Given the description of an element on the screen output the (x, y) to click on. 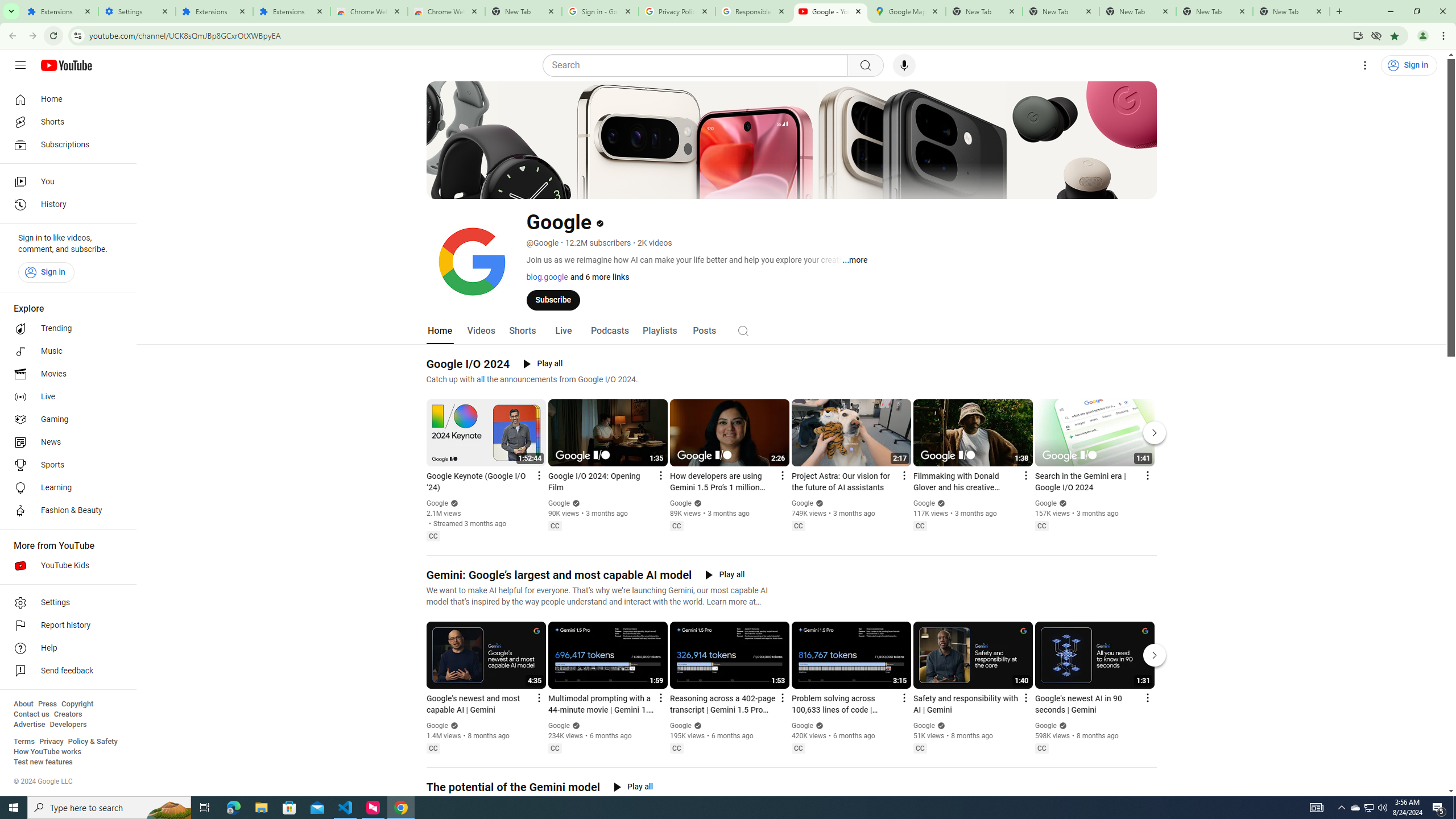
Chrome Web Store - Themes (446, 11)
Contact us (31, 714)
Live (64, 396)
Shorts (64, 121)
Shorts (521, 330)
Chrome Web Store (368, 11)
Sign in - Google Accounts (599, 11)
